Given the description of an element on the screen output the (x, y) to click on. 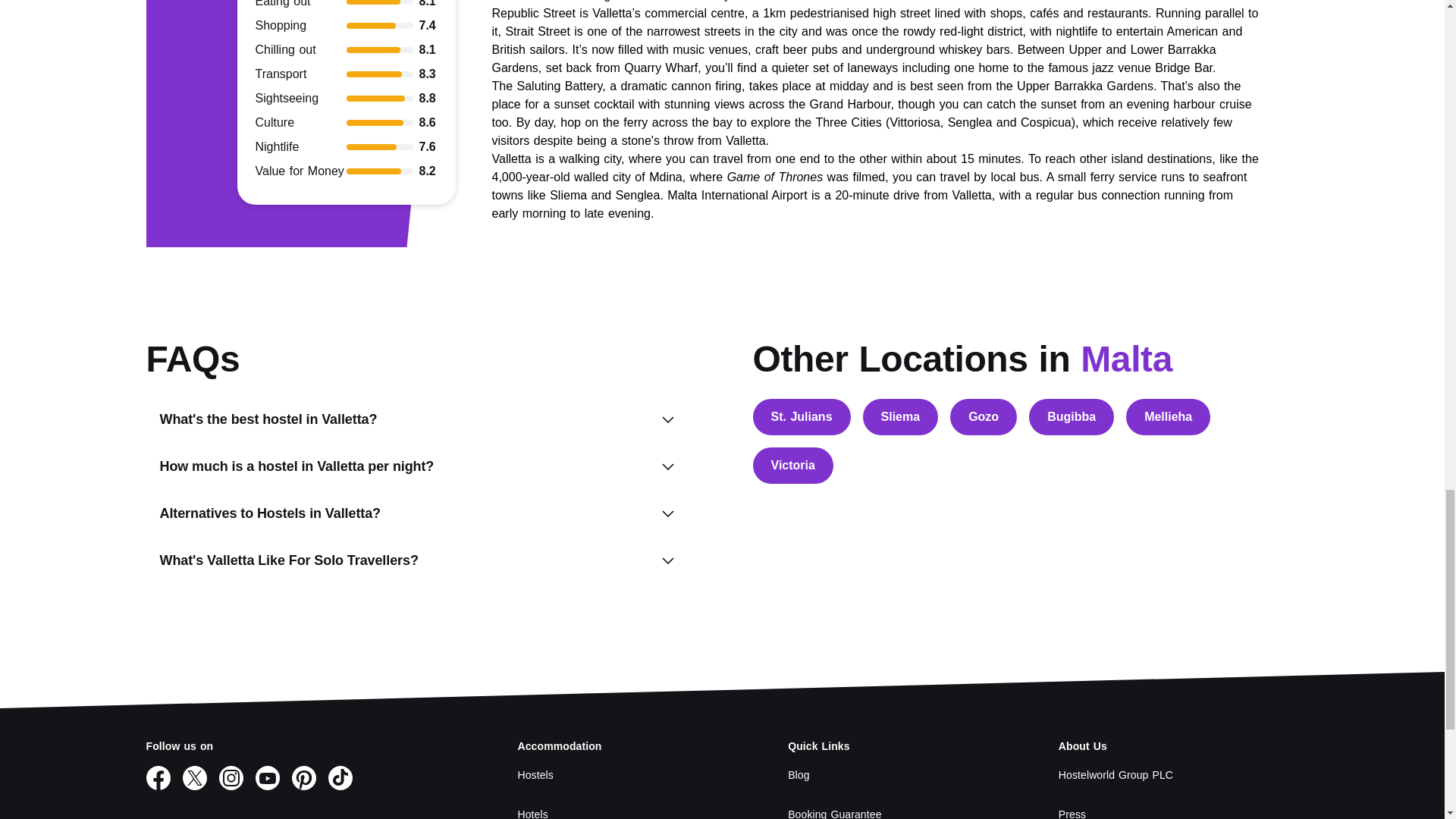
View all hostels in Gozo (983, 416)
View all hostels in Bugibba (1071, 416)
Hostelworld Facebook (157, 777)
View all hostels in St. Julians (801, 416)
View all hostels in Mellieha (1167, 416)
View all hostels in Sliema (901, 416)
View all hostels in Victoria (792, 465)
